Given the description of an element on the screen output the (x, y) to click on. 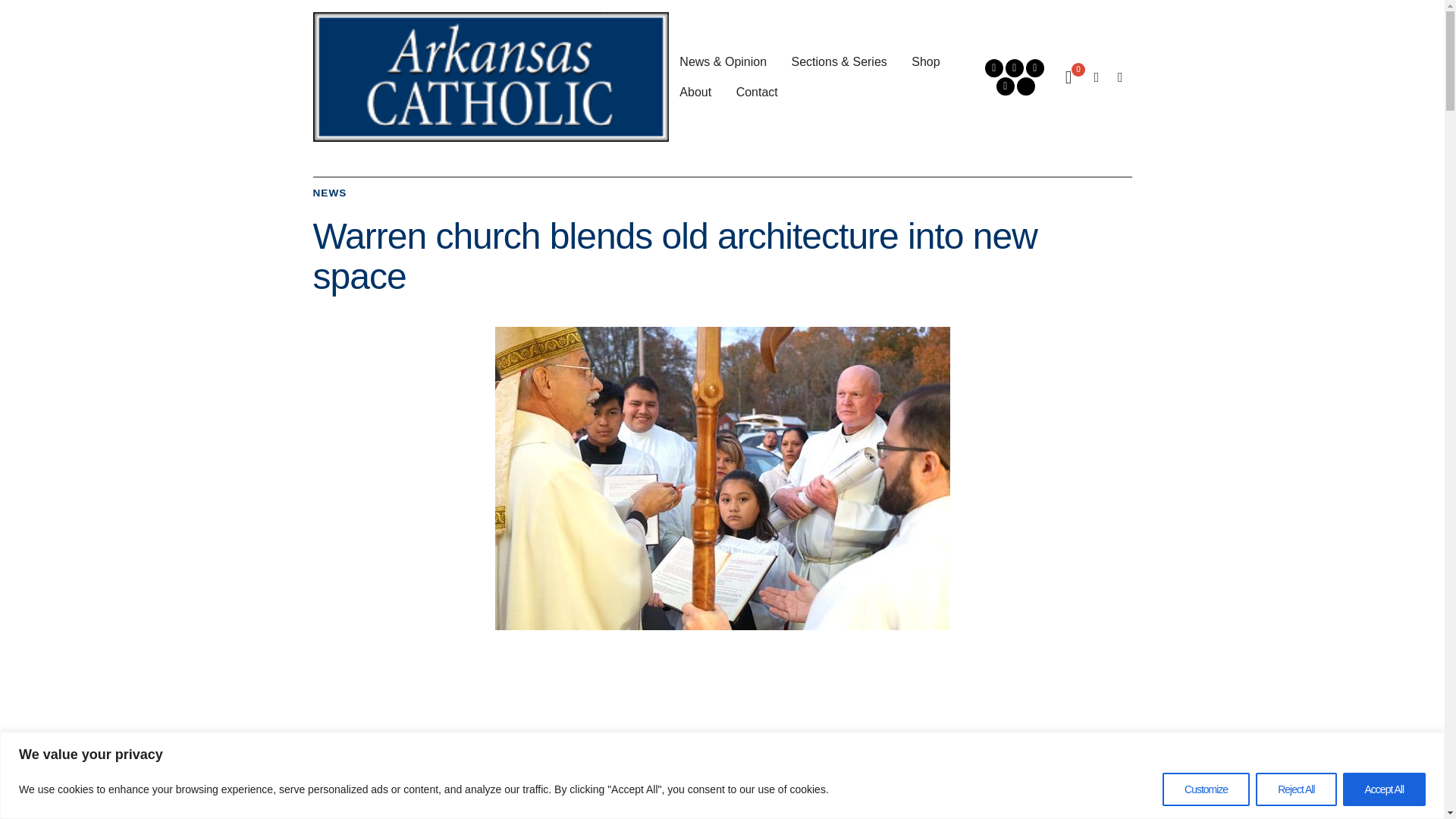
3rd party ad content (721, 686)
RSS (1004, 85)
Accept All (1383, 788)
YouTube (1034, 67)
Facebook (994, 67)
Customize (1205, 788)
Reject All (1295, 788)
Instagram (1014, 67)
Shop (925, 61)
